Given the description of an element on the screen output the (x, y) to click on. 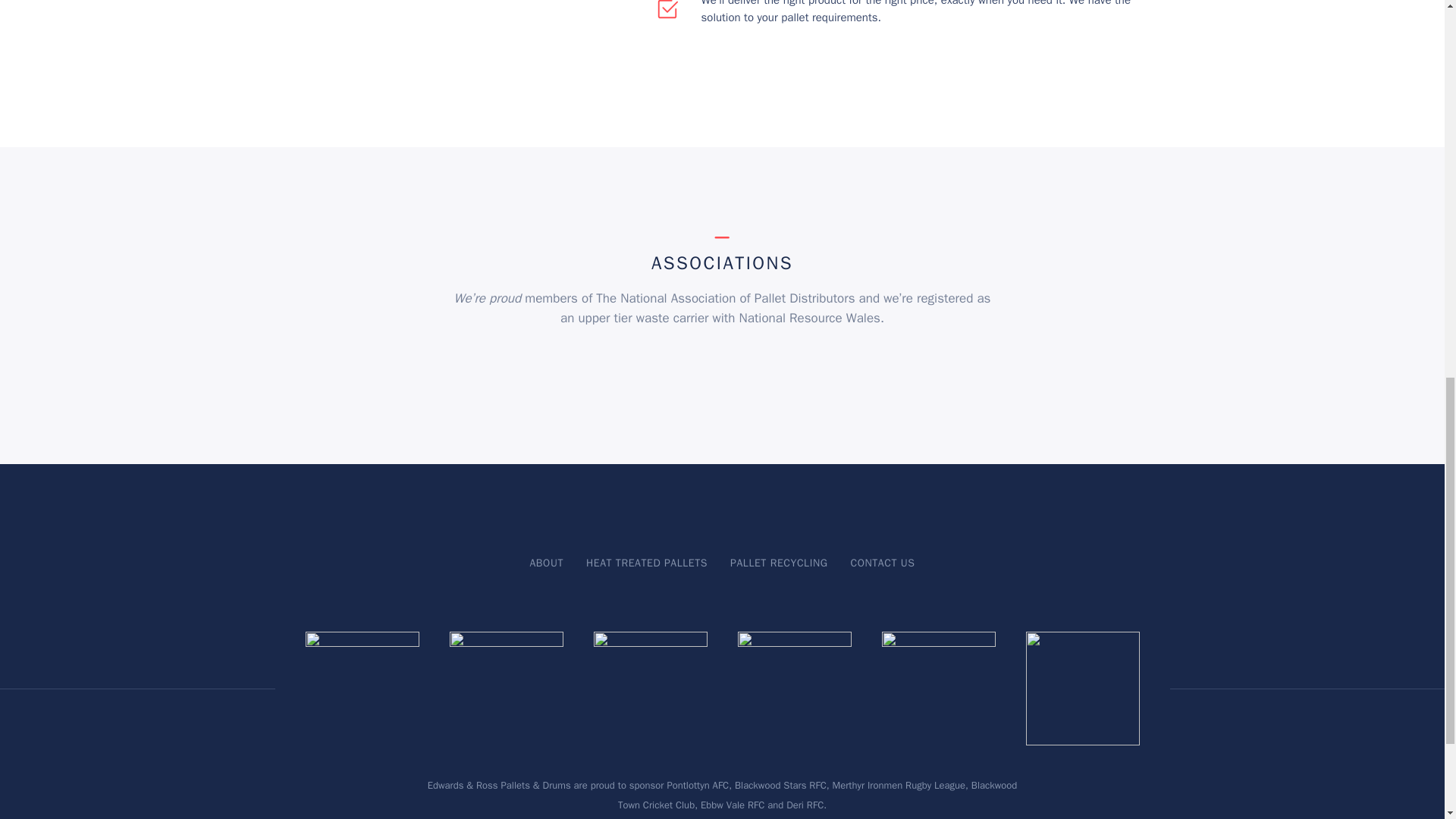
ABOUT (546, 562)
HEAT TREATED PALLETS (646, 562)
CONTACT US (882, 562)
PALLET RECYCLING (778, 562)
